Given the description of an element on the screen output the (x, y) to click on. 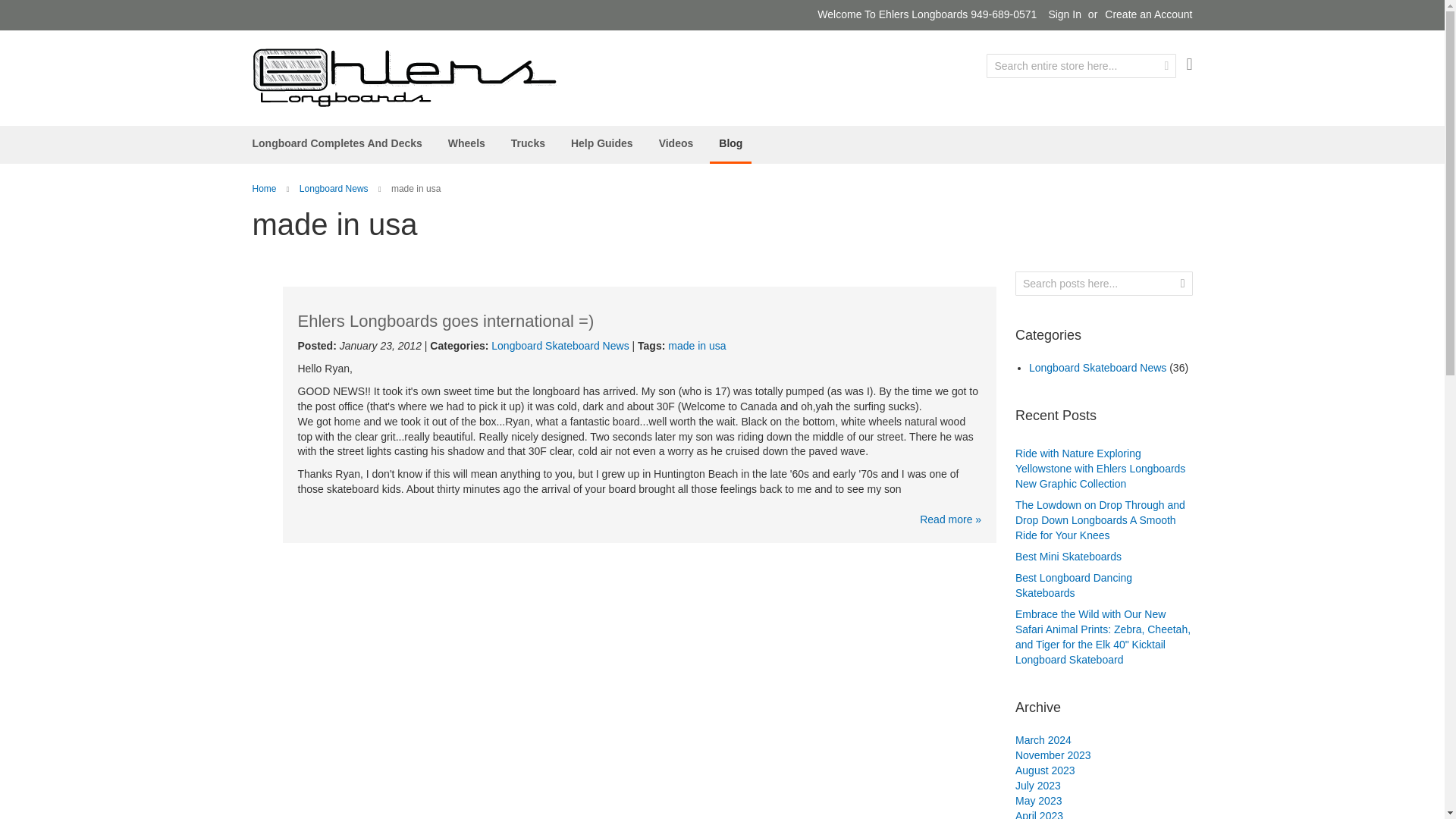
Longboard News (333, 188)
Longboard Skateboard News (560, 345)
Wheels (467, 143)
Longboard Skateboard News (560, 345)
Trucks (528, 143)
Help Guides (602, 143)
Welcome To Ehlers Longboards 949-689-0571 (403, 77)
Longboard News (333, 188)
Home (263, 188)
Blog (730, 144)
